Given the description of an element on the screen output the (x, y) to click on. 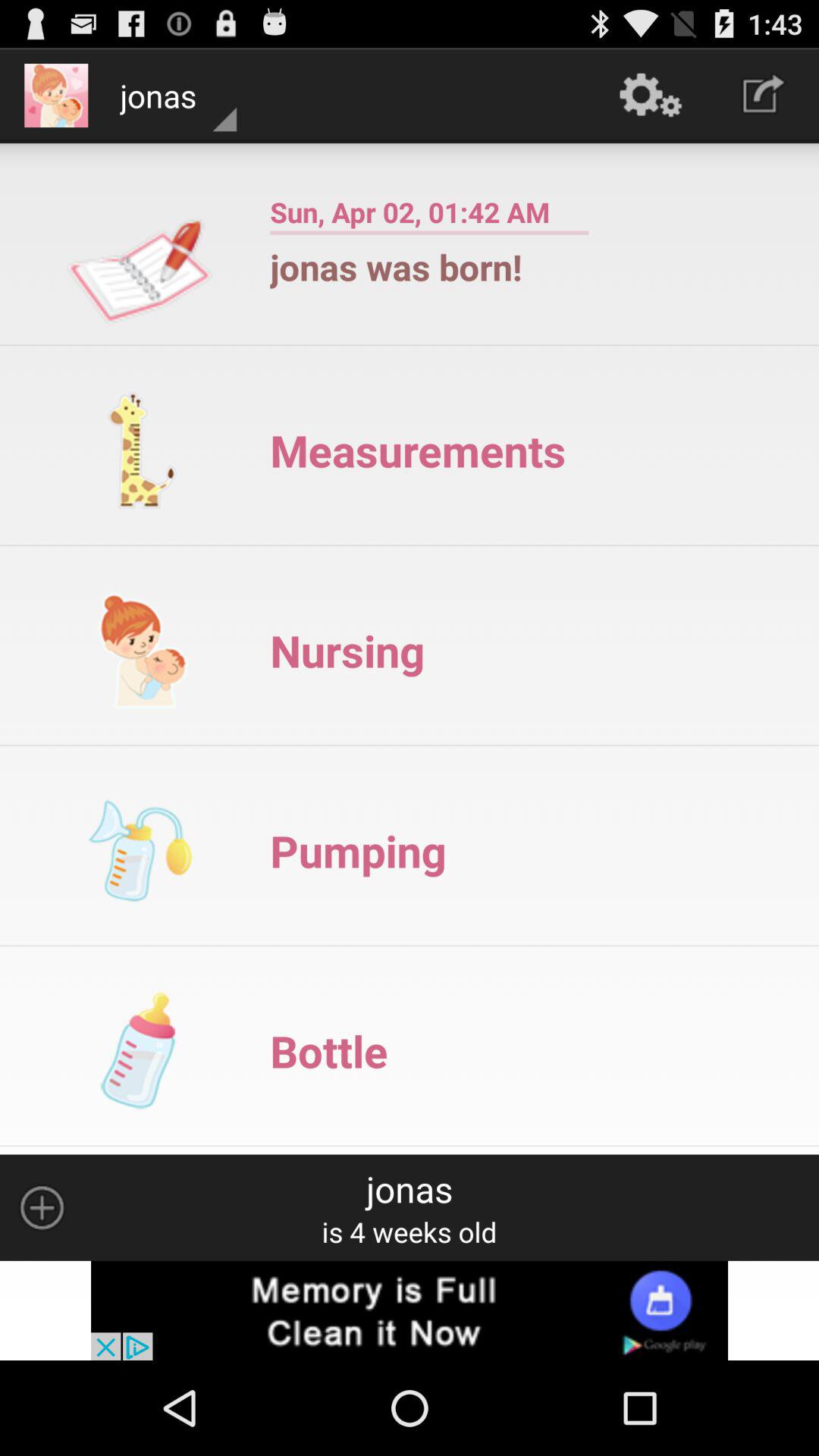
add more (41, 1207)
